Given the description of an element on the screen output the (x, y) to click on. 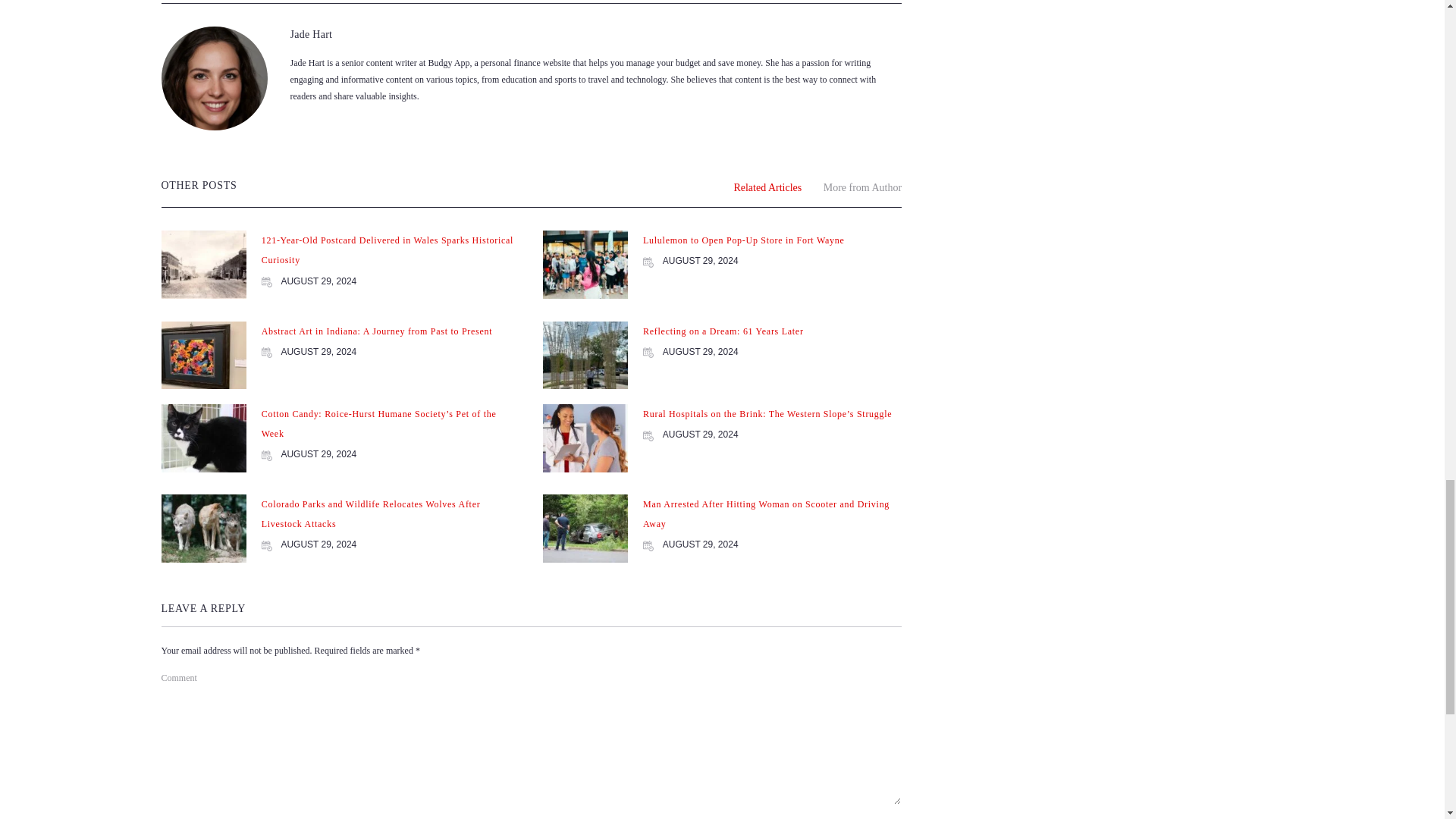
Jade Hart (310, 34)
Reflecting on a Dream: 61 Years Later (723, 330)
Abstract Art in Indiana: A Journey from Past to Present (377, 330)
Lululemon to Open Pop-Up Store in Fort Wayne (743, 240)
Posts by Jade Hart (310, 34)
Man Arrested After Hitting Woman on Scooter and Driving Away (766, 513)
